Given the description of an element on the screen output the (x, y) to click on. 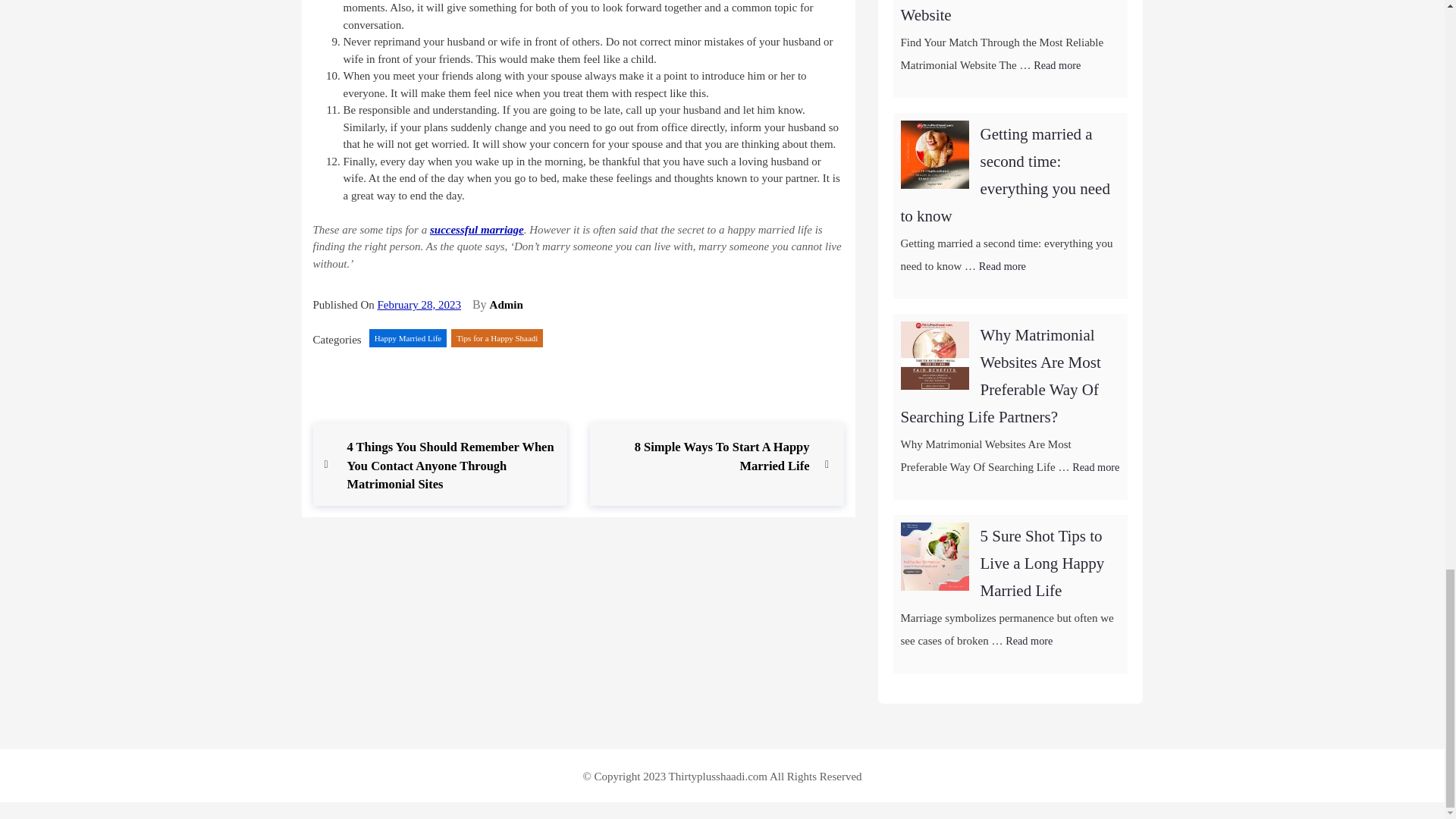
Happy Married Life (407, 338)
Tips for a Happy Shaadi (497, 338)
Admin (704, 456)
February 28, 2023 (505, 304)
successful marriage (419, 304)
